Given the description of an element on the screen output the (x, y) to click on. 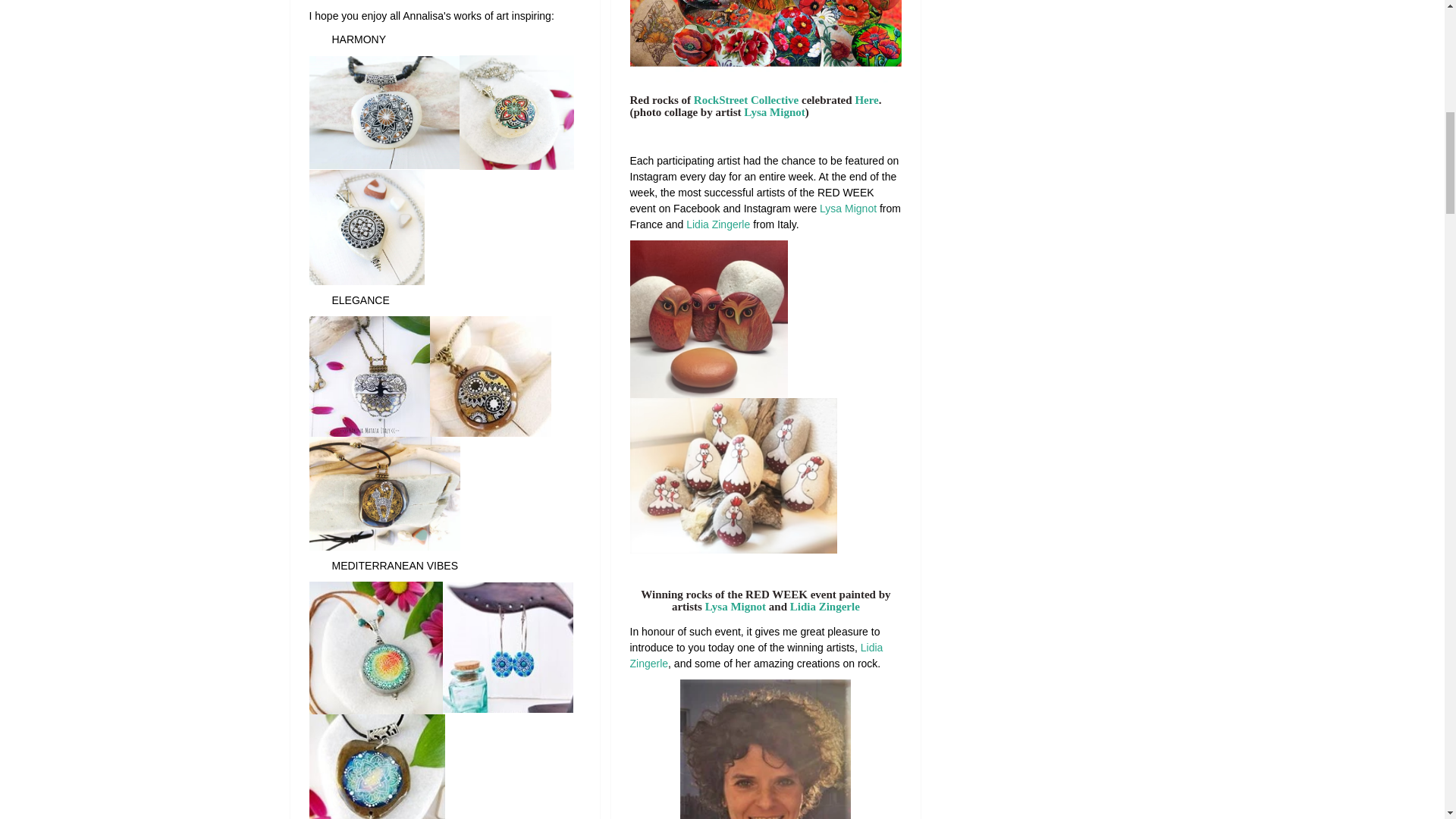
HERE (865, 100)
Lidia Zingerle (825, 606)
Lidia Zingerle (717, 224)
Lysa Mignot (847, 208)
Lysa Mignot (774, 111)
RockStreet Collective (745, 100)
Lysa Mignot (734, 606)
